Given the description of an element on the screen output the (x, y) to click on. 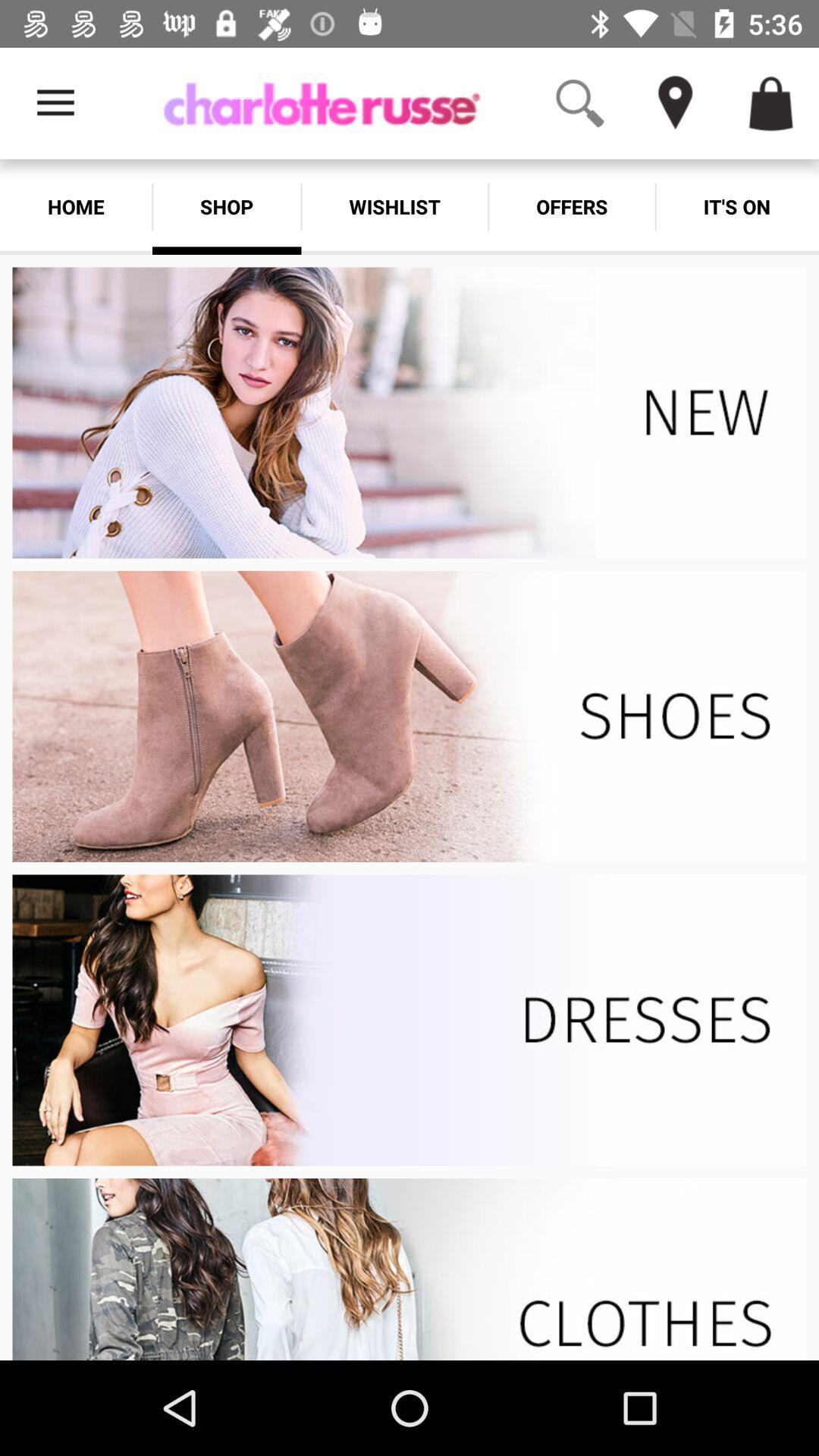
click on shop option which is below the charlotte russe (227, 206)
click on the shopping bag icon at the top right of the page (771, 103)
select the symbol which is to the immediate left of navigation symbol (580, 103)
move to its on  tab (737, 206)
select text shoes with a shoes image (409, 715)
click on the image which has the text dresses (409, 1020)
